Given the description of an element on the screen output the (x, y) to click on. 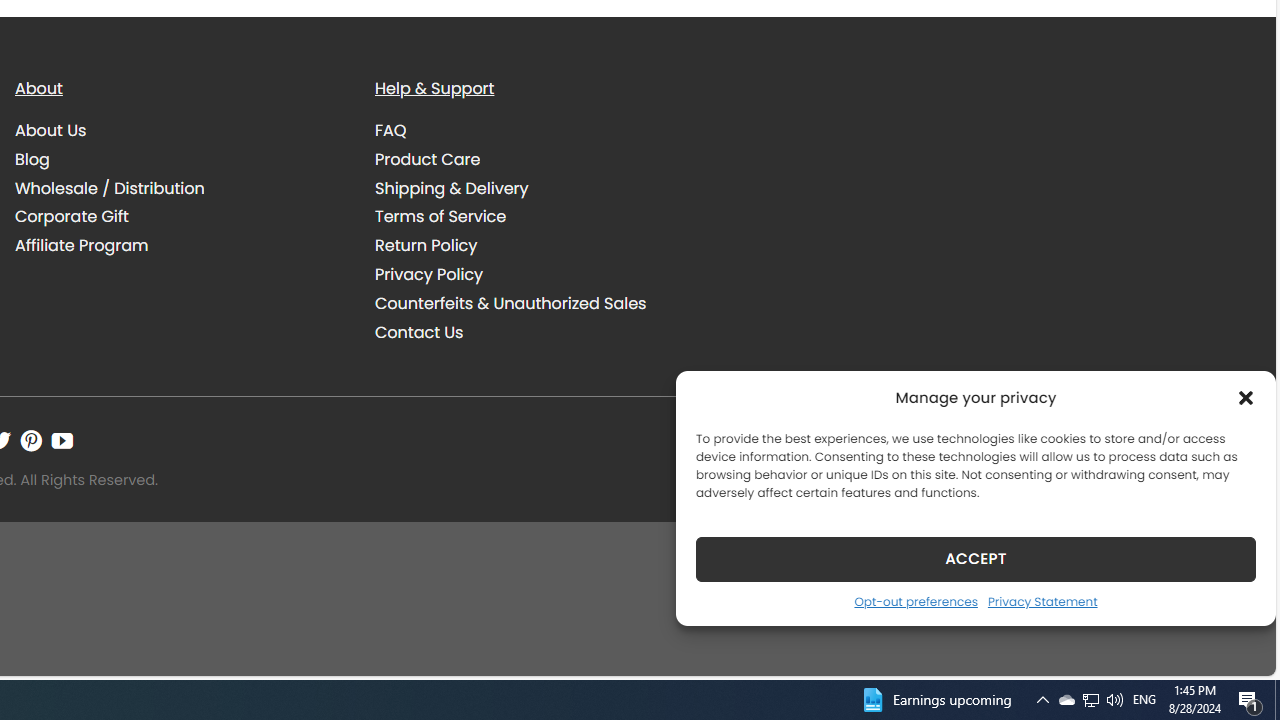
Terms of Service (440, 216)
Wholesale / Distribution (180, 188)
Return Policy (426, 245)
